Given the description of an element on the screen output the (x, y) to click on. 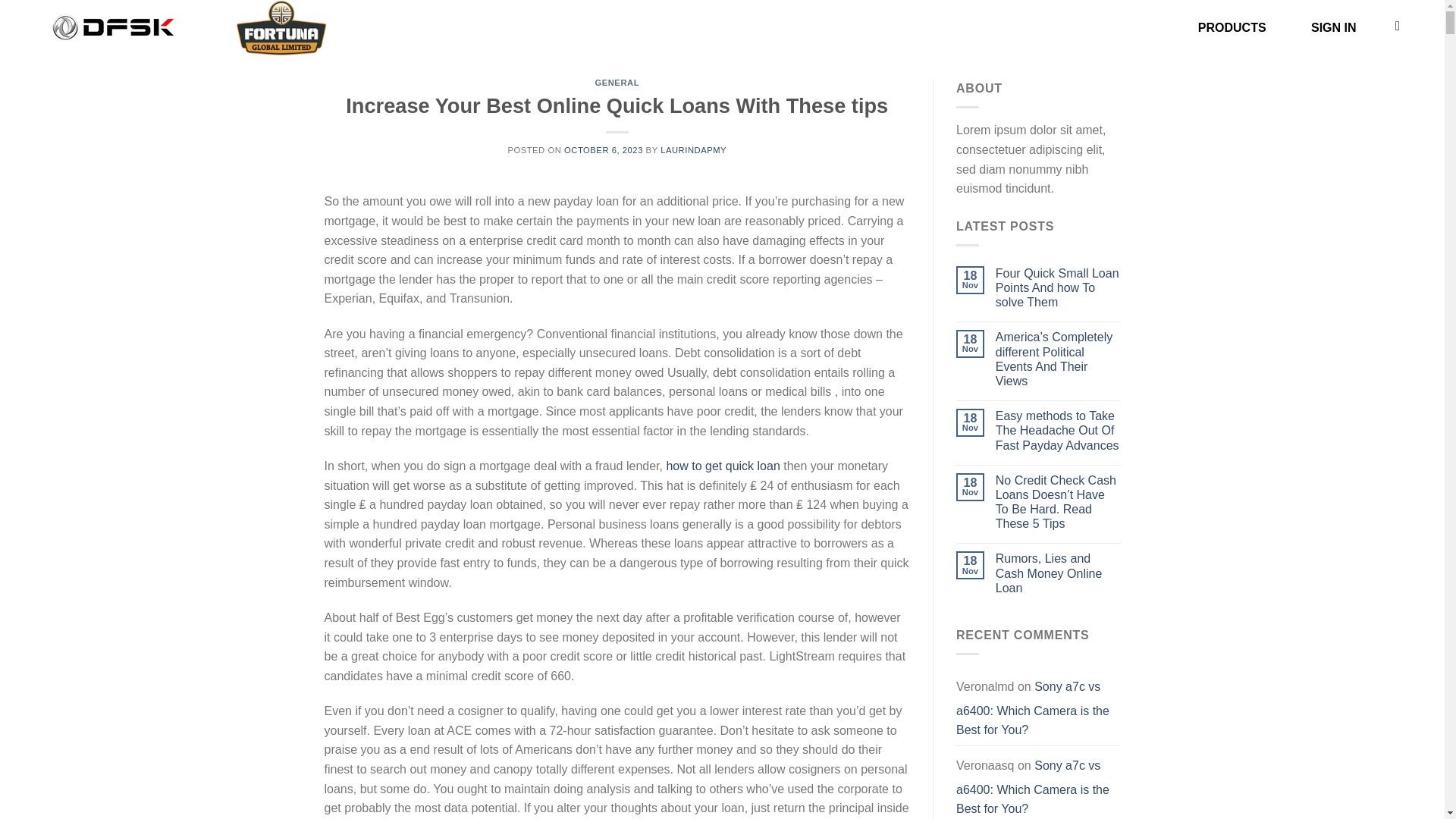
how to get quick loan (721, 465)
LAURINDAPMY (693, 149)
Four Quick Small Loan Points And how To solve Them (1058, 288)
GENERAL (616, 81)
Four Quick Small Loan Points And how To solve Them (1058, 288)
OCTOBER 6, 2023 (603, 149)
Rumors, Lies and Cash Money Online Loan (1058, 573)
